Given the description of an element on the screen output the (x, y) to click on. 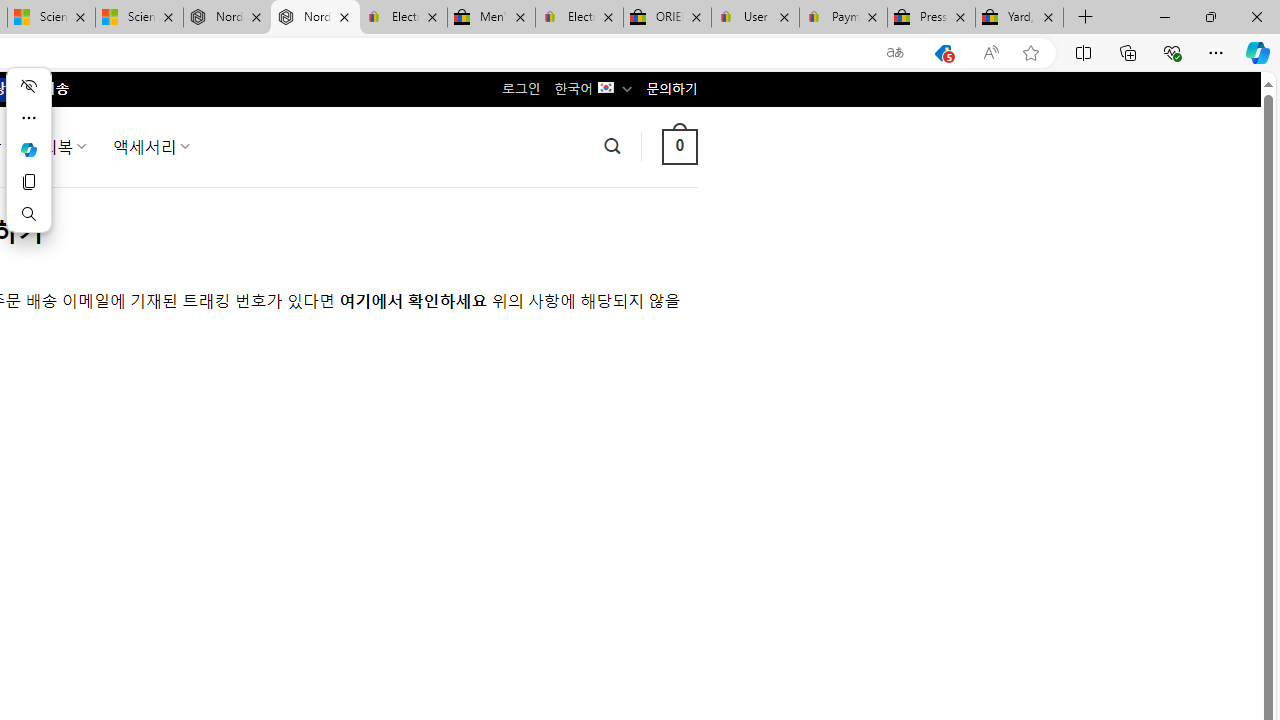
Copy (28, 182)
Yard, Garden & Outdoor Living (1019, 17)
Nordace - Summer Adventures 2024 (227, 17)
Ask Copilot (28, 149)
Electronics, Cars, Fashion, Collectibles & More | eBay (579, 17)
Payments Terms of Use | eBay.com (843, 17)
Read aloud this page (Ctrl+Shift+U) (991, 53)
Press Room - eBay Inc. (931, 17)
 0  (679, 146)
New Tab (1085, 17)
Restore (1210, 16)
Hide menu (28, 85)
Search (28, 213)
